Given the description of an element on the screen output the (x, y) to click on. 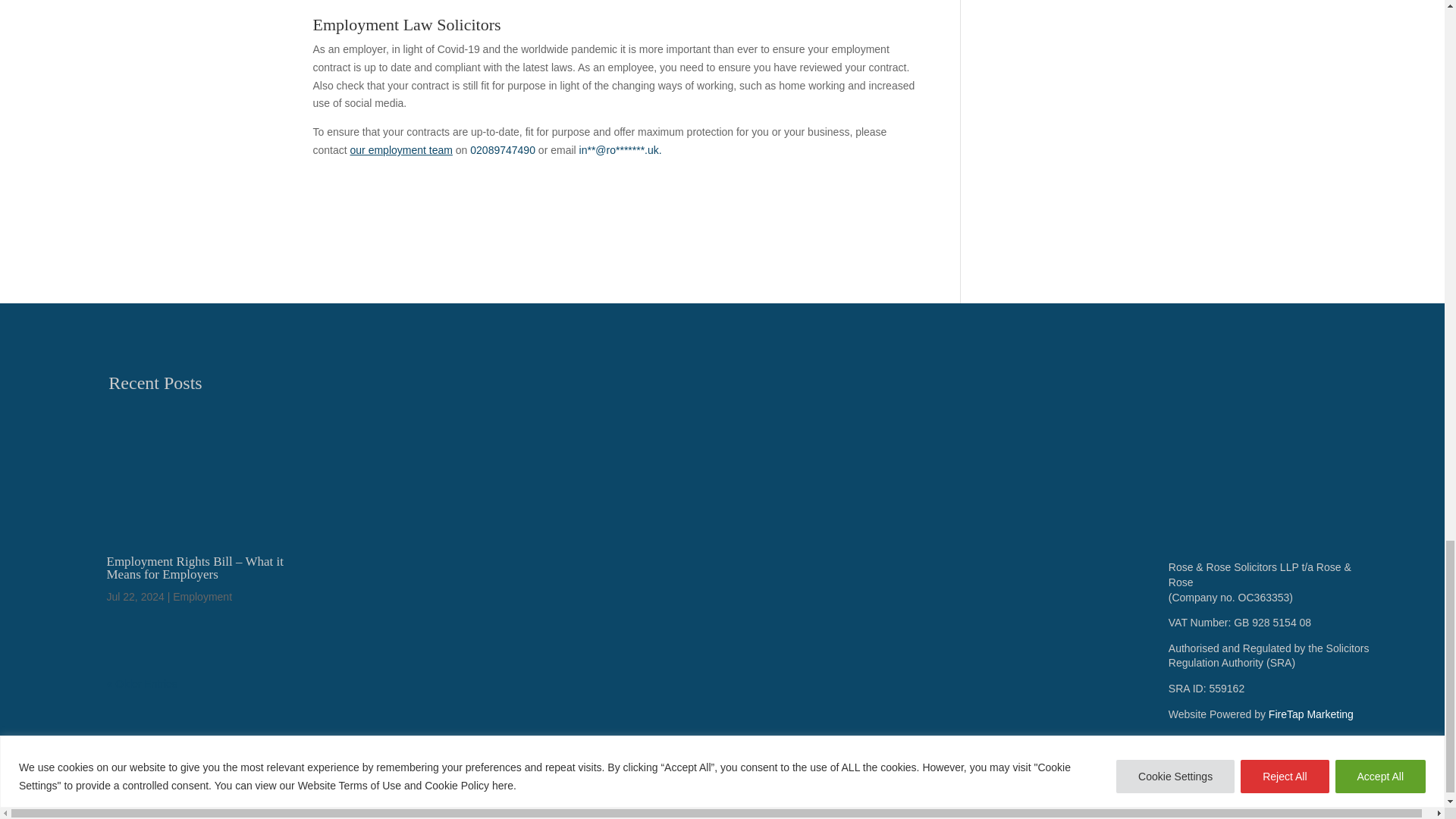
Conveyancing Quality Scheme Logo (622, 638)
Call 02089747490 via 3CX (502, 150)
